Given the description of an element on the screen output the (x, y) to click on. 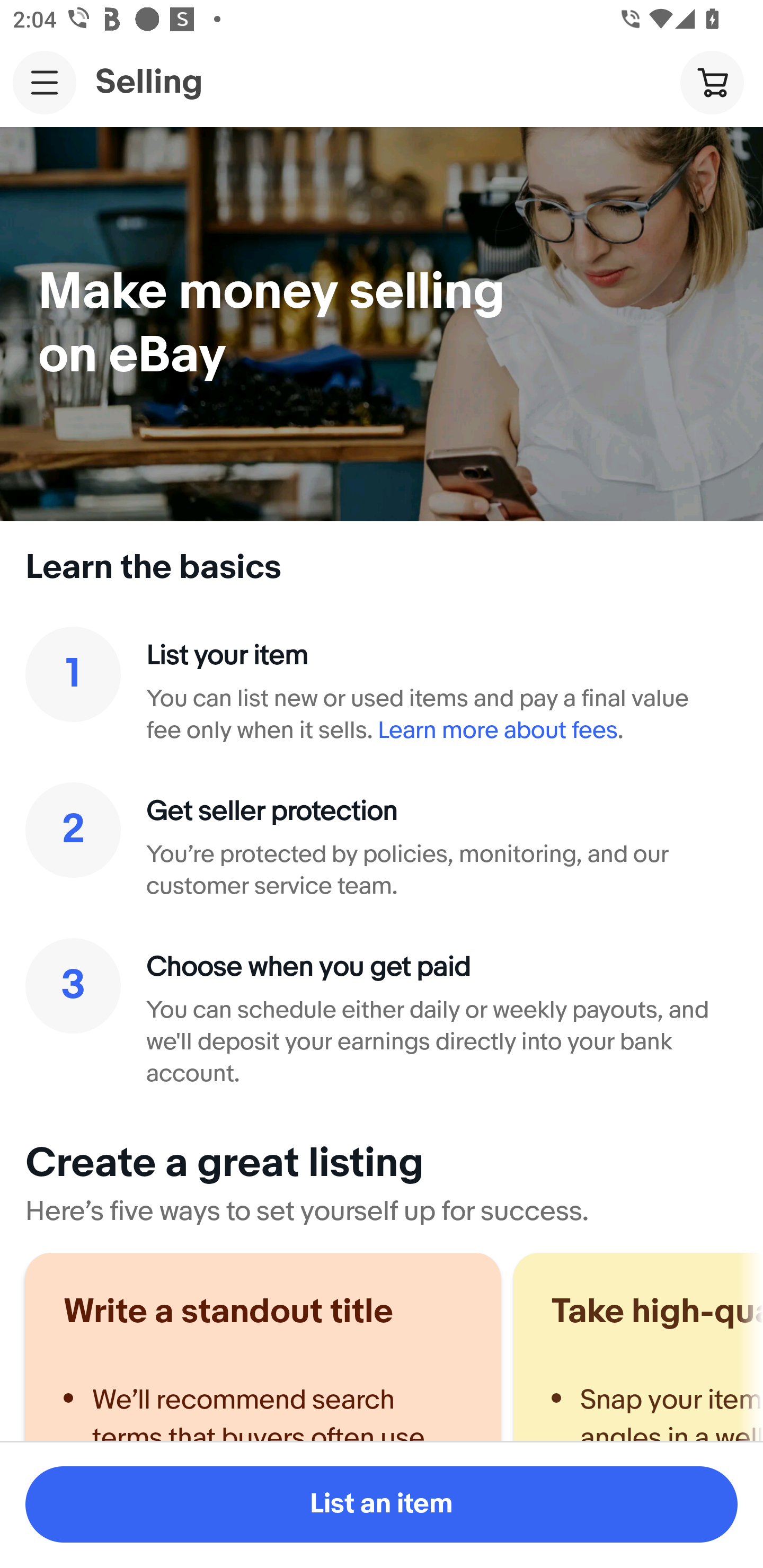
Main navigation, open (44, 82)
Cart button shopping cart (711, 81)
List an item (381, 1504)
